Given the description of an element on the screen output the (x, y) to click on. 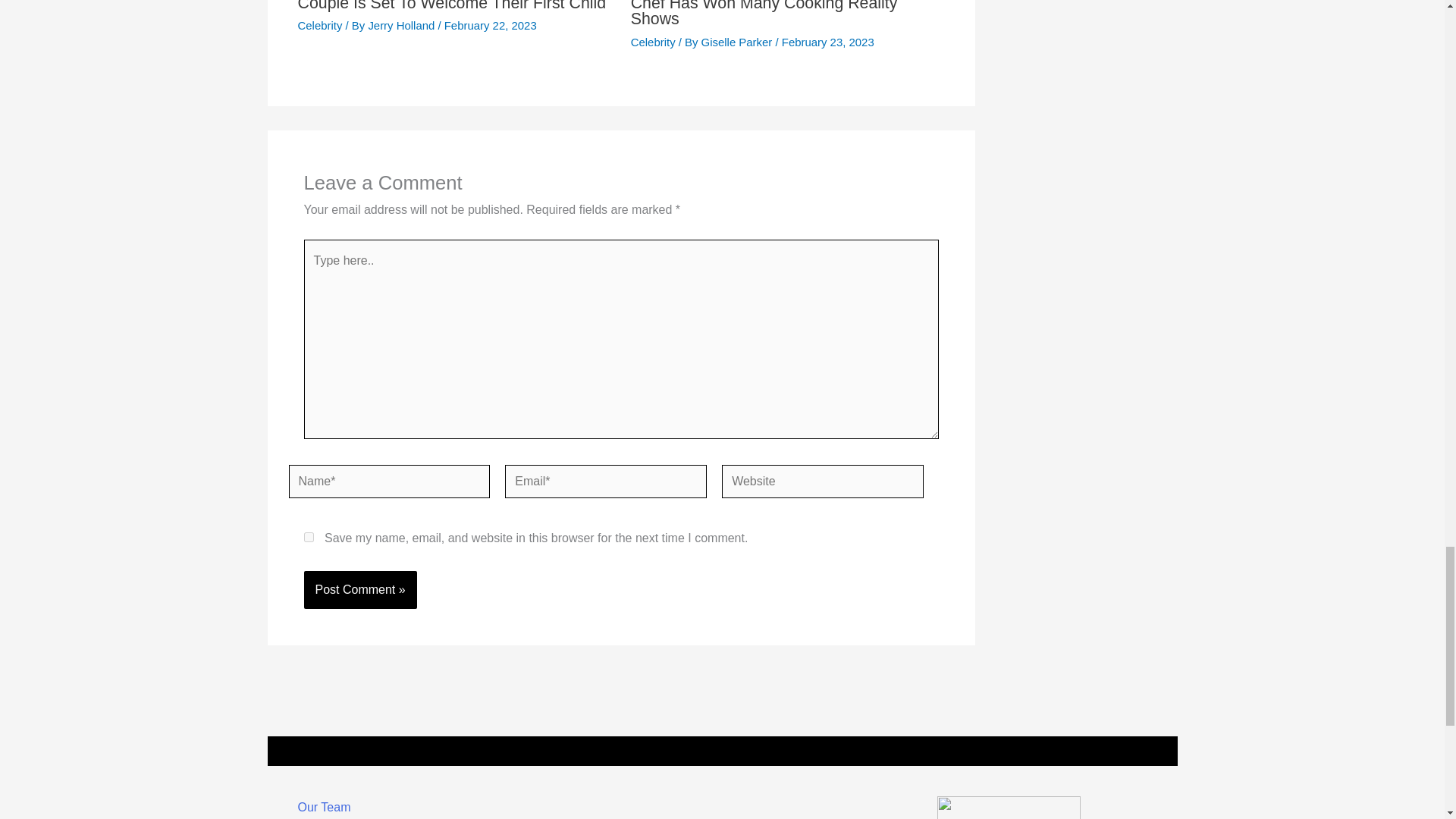
View all posts by Jerry Holland (403, 24)
yes (307, 537)
View all posts by Giselle Parker (738, 42)
